Given the description of an element on the screen output the (x, y) to click on. 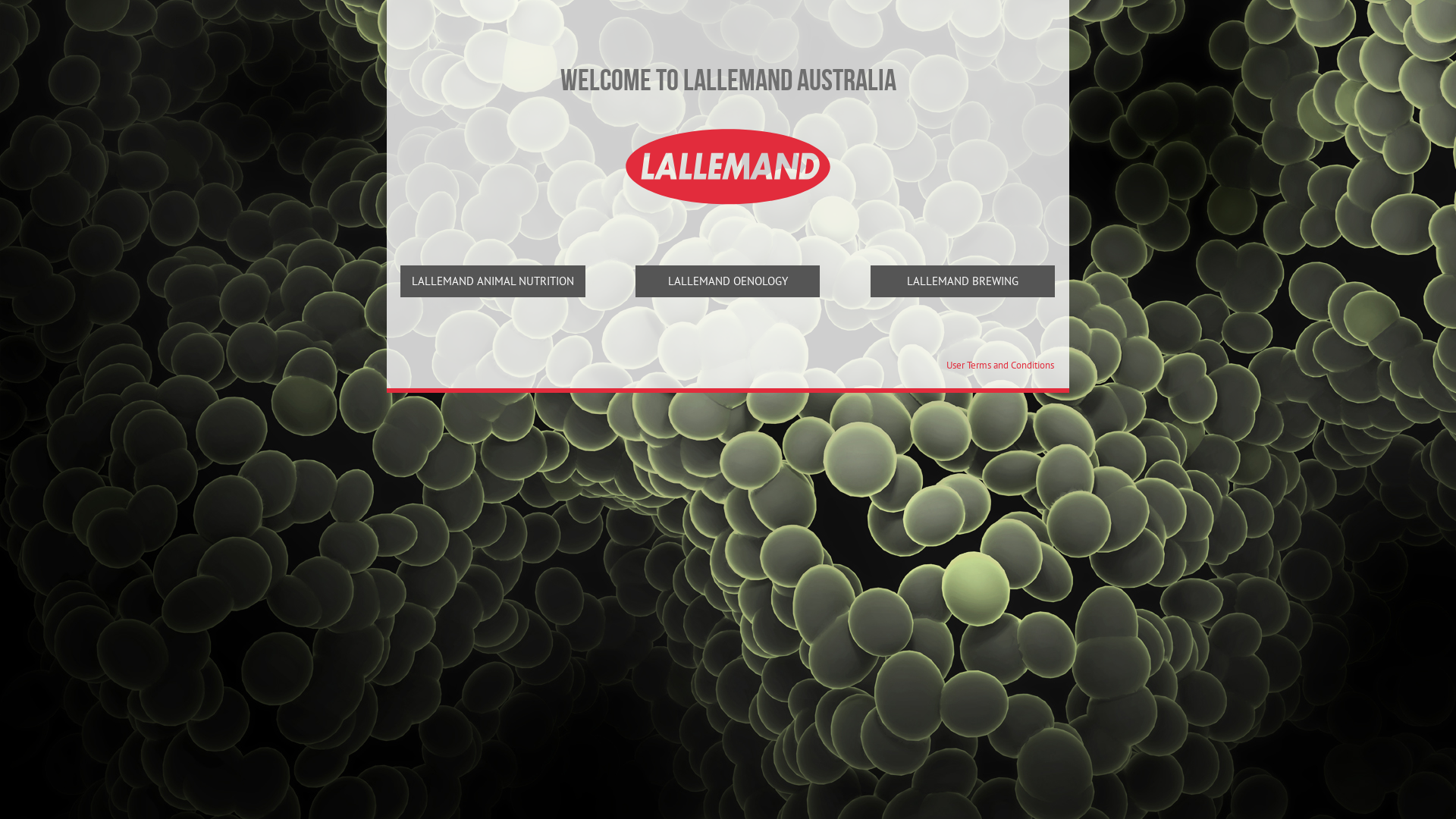
LALLEMAND OENOLOGY Element type: text (727, 281)
User Terms and Conditions Element type: text (1000, 365)
LALLEMAND BREWING Element type: text (962, 281)
LALLEMAND ANIMAL NUTRITION Element type: text (492, 281)
